Given the description of an element on the screen output the (x, y) to click on. 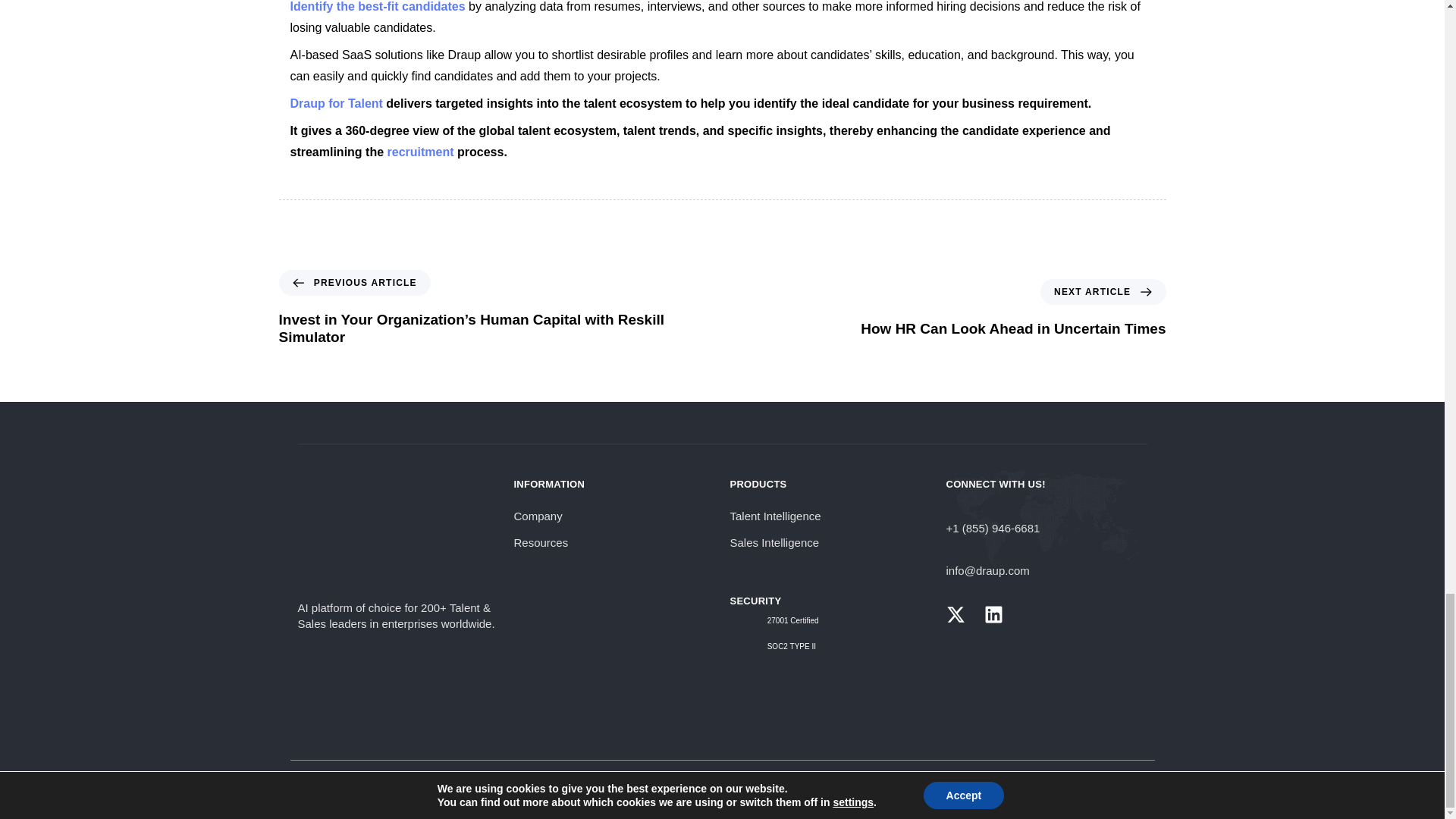
Sales Intelligence (829, 542)
recruitment (420, 151)
Legal Disclaimer (682, 780)
Identify the best-fit candidates (376, 6)
Resources (613, 542)
Draup for Talent (335, 103)
Company (613, 516)
Talent Intelligence (1013, 308)
Privacy Policy (829, 516)
